Given the description of an element on the screen output the (x, y) to click on. 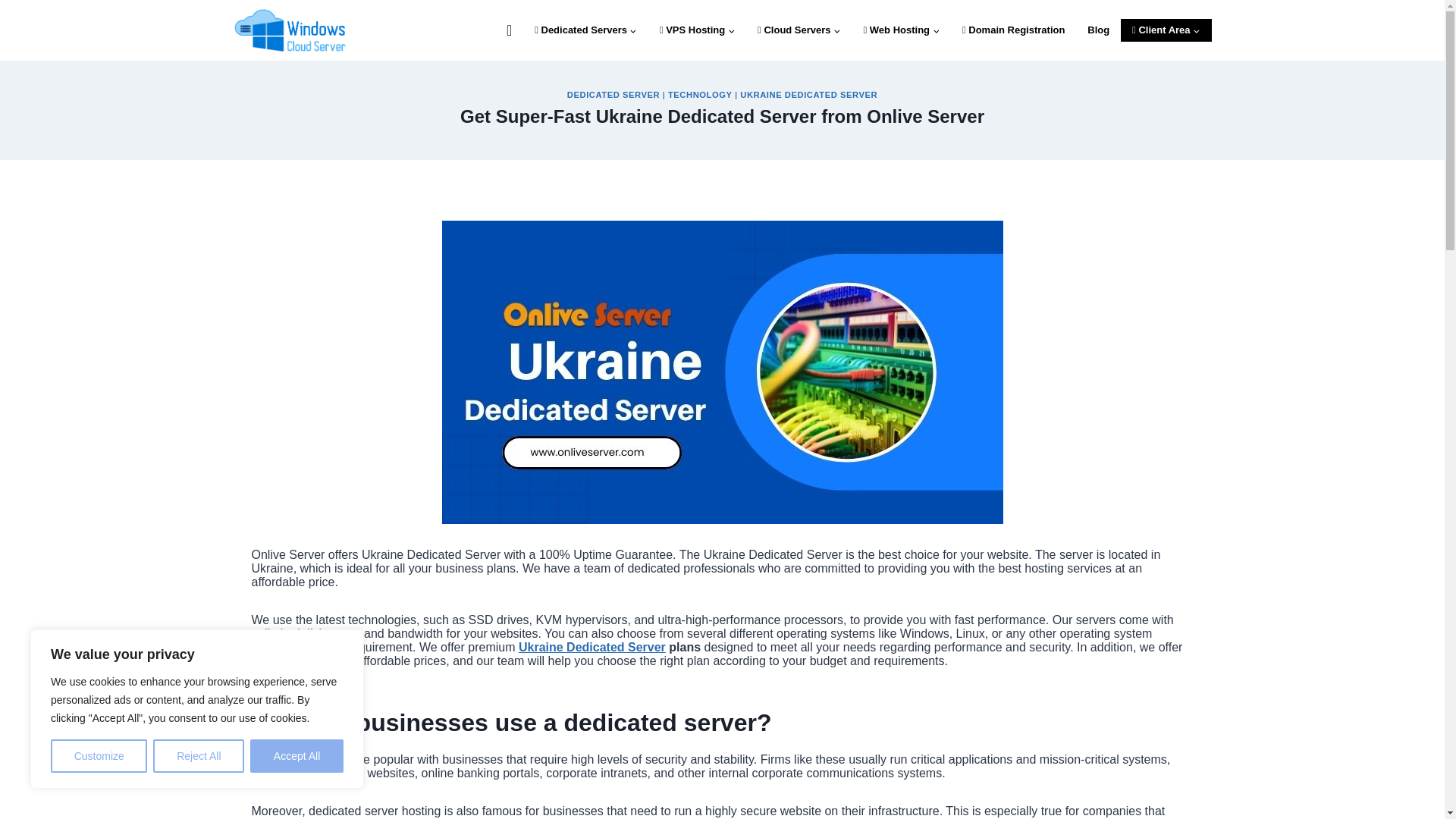
Accept All (296, 756)
Customize (98, 756)
Dedicated Servers (584, 30)
Reject All (198, 756)
VPS Hosting (696, 30)
Cloud Servers (798, 30)
Web Hosting (900, 30)
